Given the description of an element on the screen output the (x, y) to click on. 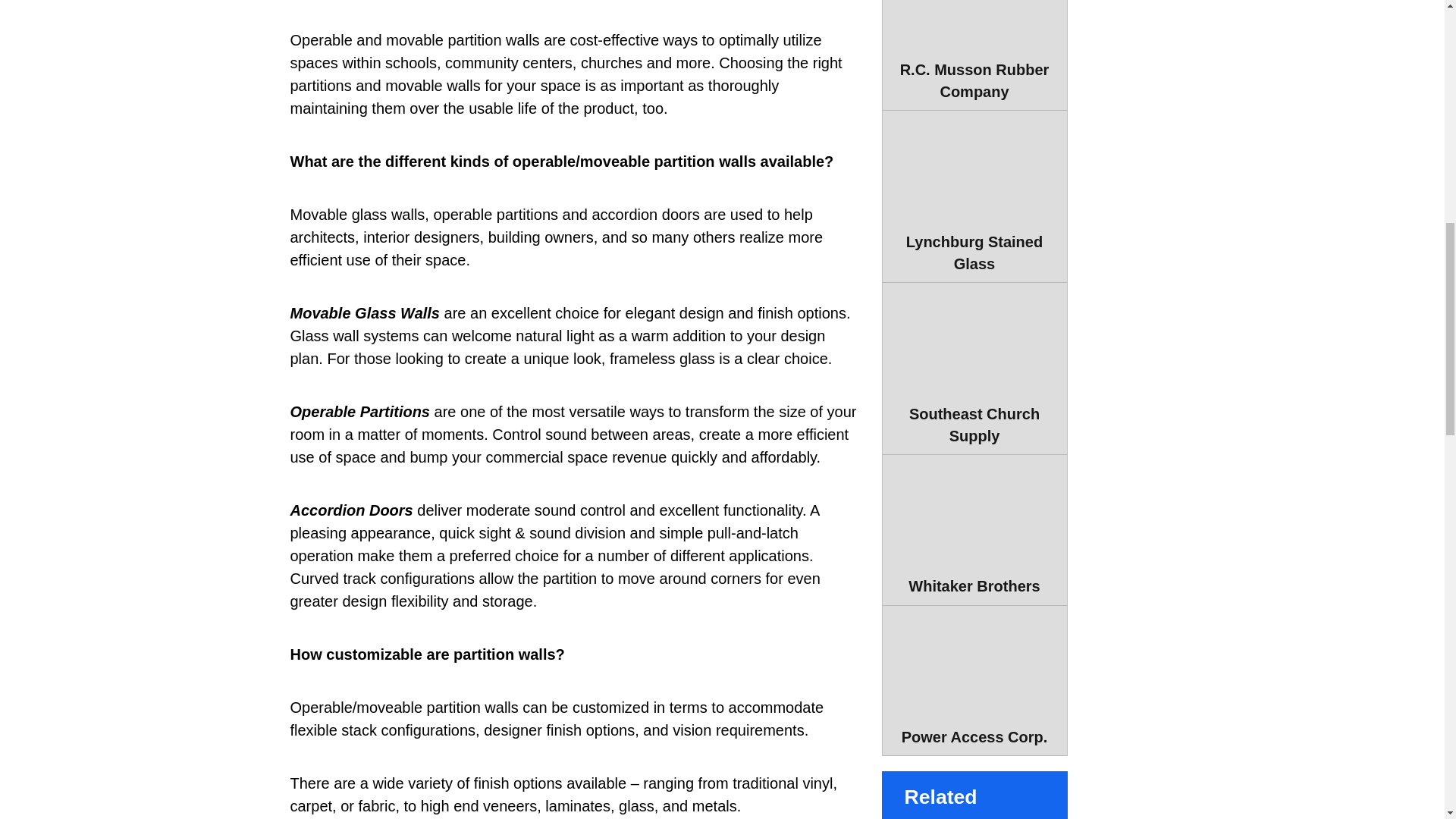
Whitaker Brothers (974, 530)
R.C. Musson Rubber Company (974, 55)
Lynchburg Stained Glass (974, 195)
Power Access Corp. (974, 680)
Southeast Church Supply (974, 368)
